Given the description of an element on the screen output the (x, y) to click on. 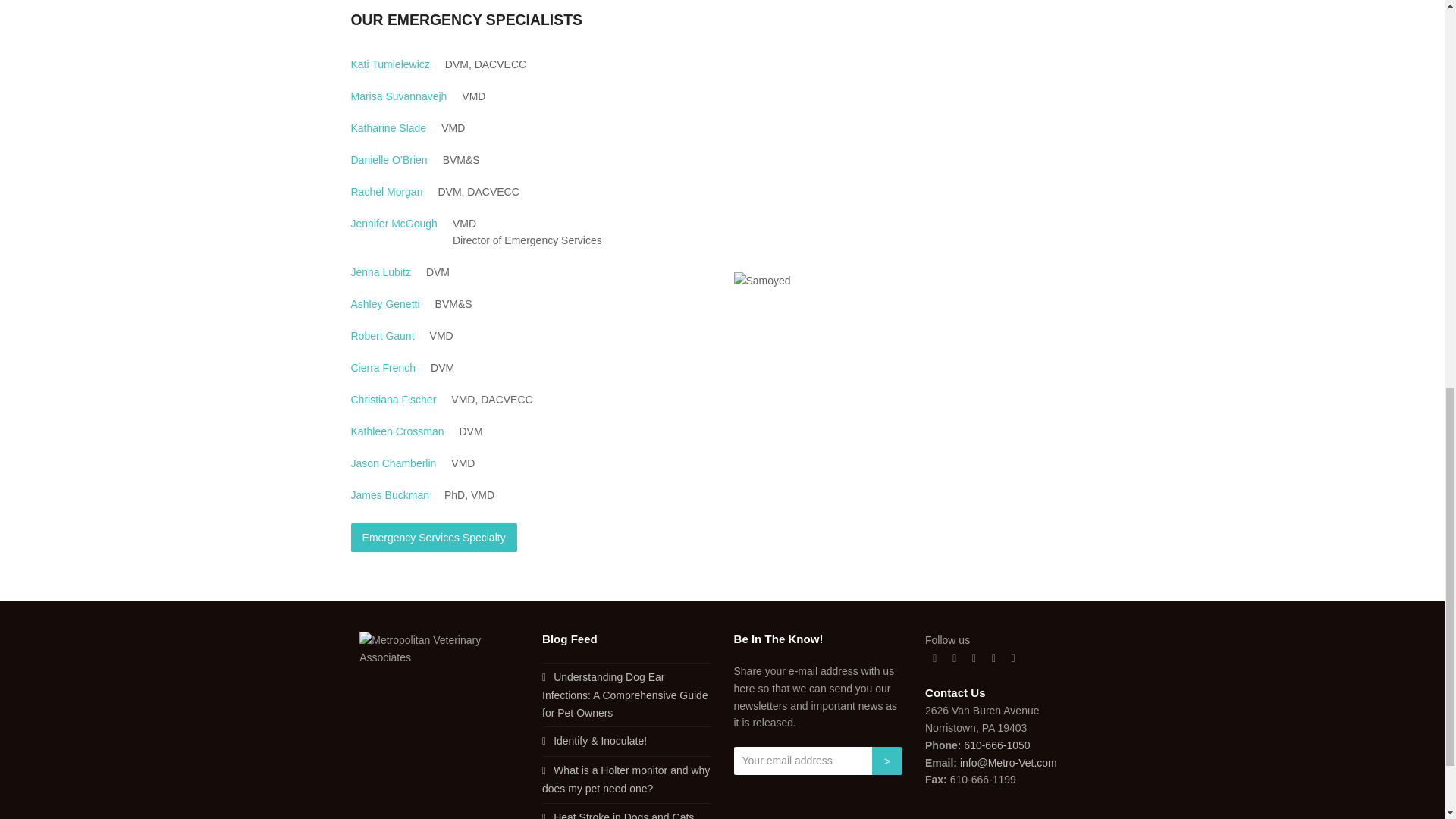
Youtube (994, 659)
Instagram (973, 659)
Facebook (953, 659)
TikTok (1013, 659)
Happy Dog (761, 280)
Twitter (934, 659)
